Given the description of an element on the screen output the (x, y) to click on. 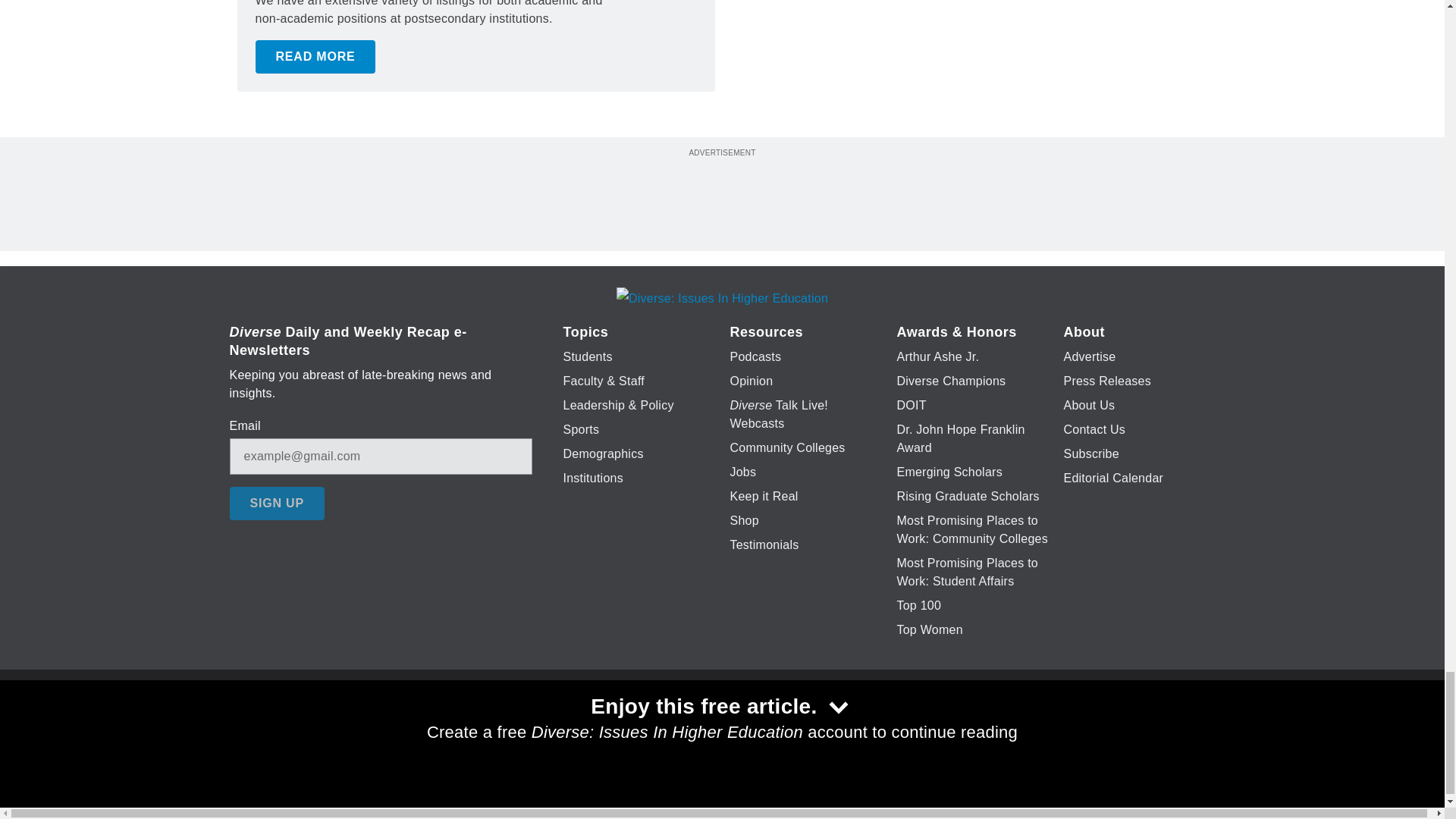
LinkedIn icon (718, 727)
YouTube icon (757, 727)
Twitter X icon (674, 727)
Instagram icon (796, 727)
Facebook icon (635, 727)
